Given the description of an element on the screen output the (x, y) to click on. 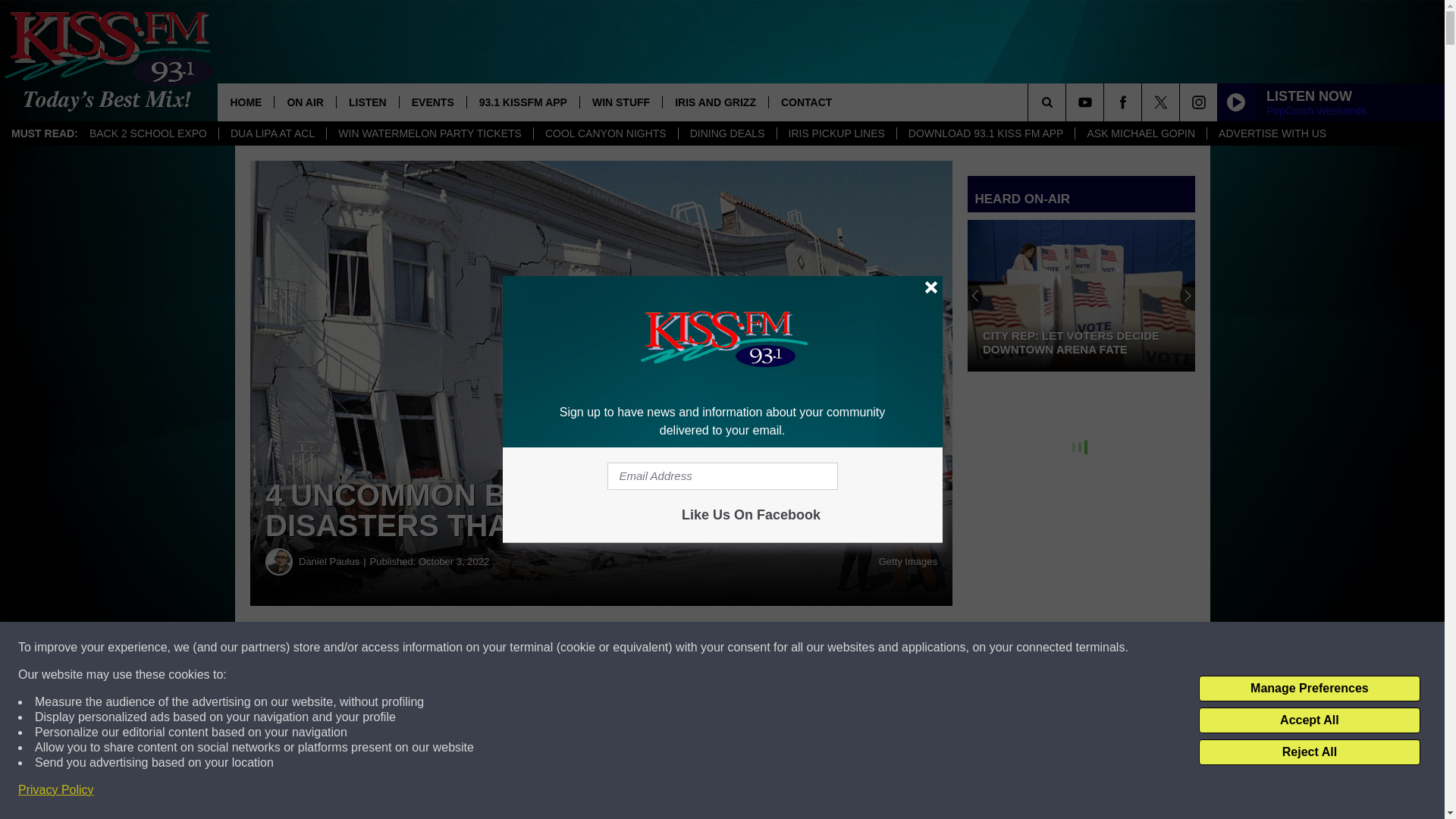
ADVERTISE WITH US (1272, 133)
DOWNLOAD 93.1 KISS FM APP (985, 133)
DUA LIPA AT ACL (272, 133)
ON AIR (303, 102)
HOME (244, 102)
ASK MICHAEL GOPIN (1140, 133)
SEARCH (1068, 102)
SEARCH (1068, 102)
Manage Preferences (1309, 688)
WIN WATERMELON PARTY TICKETS (429, 133)
COOL CANYON NIGHTS (605, 133)
EVENTS (431, 102)
BACK 2 SCHOOL EXPO (148, 133)
Reject All (1309, 751)
Share on Facebook (460, 647)
